Given the description of an element on the screen output the (x, y) to click on. 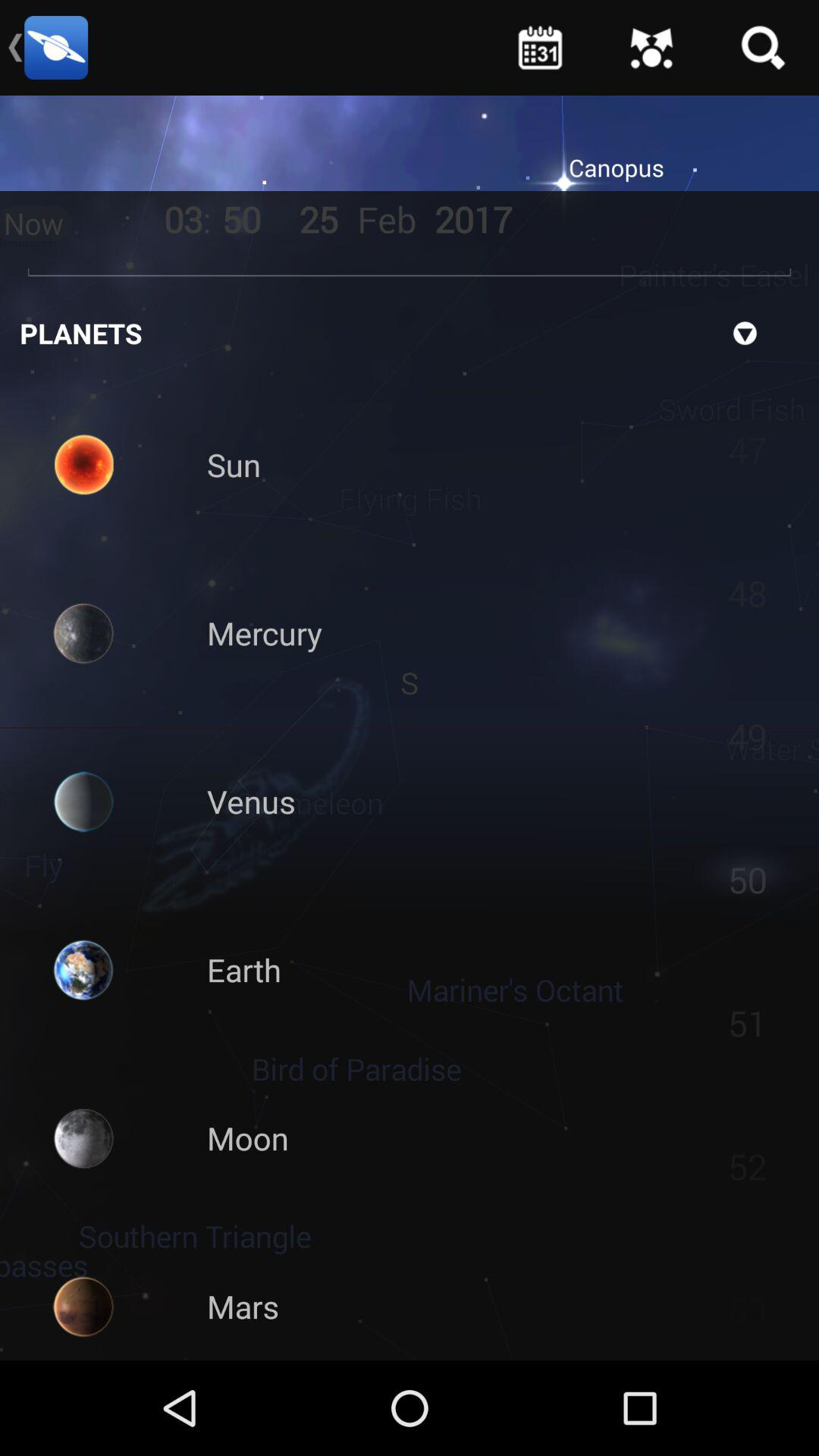
go to moon option icon (83, 1138)
